Given the description of an element on the screen output the (x, y) to click on. 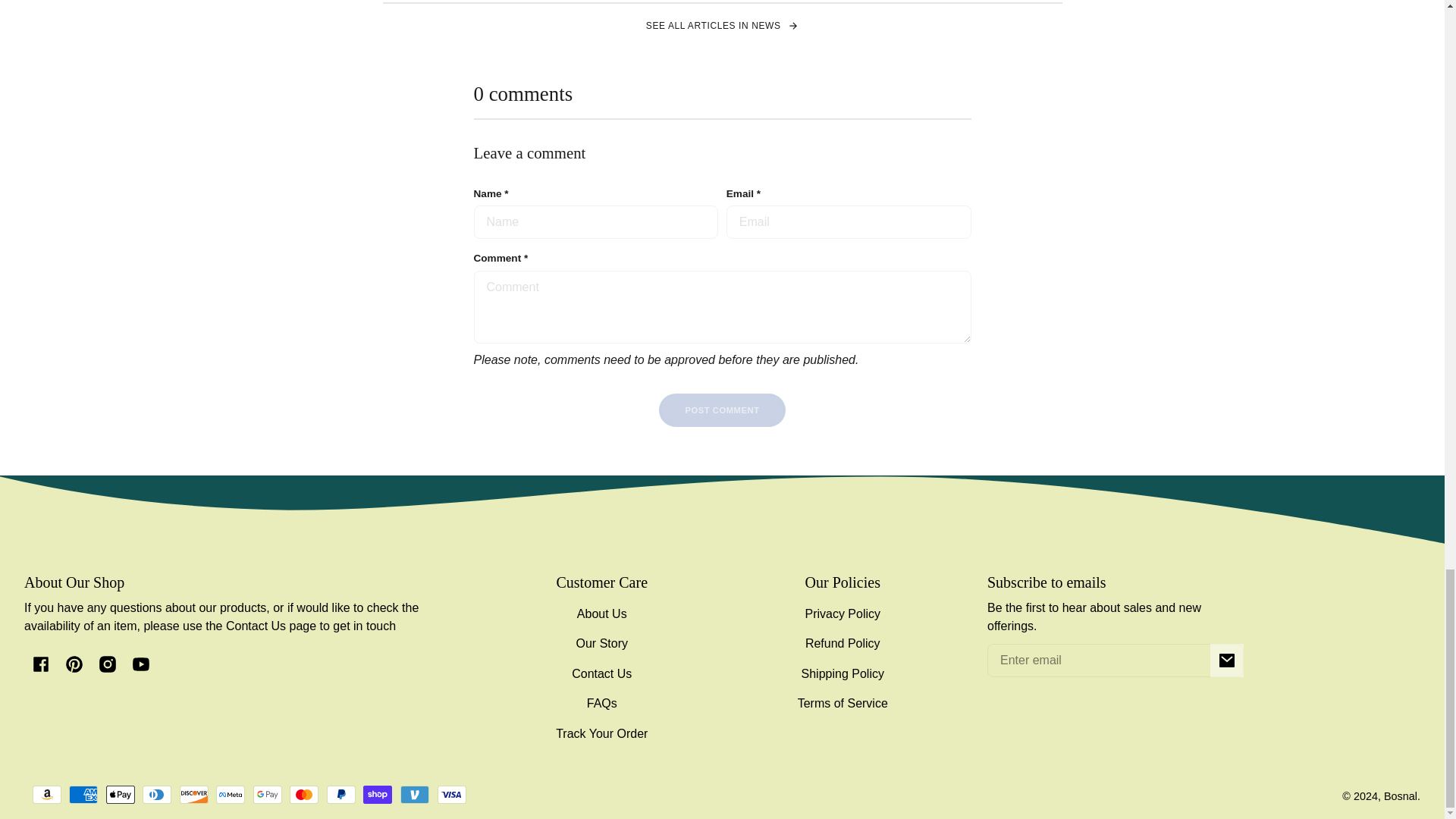
Refund Policy (842, 644)
YouTube (140, 663)
Instagram (106, 663)
Pinterest (74, 663)
Contact Us (601, 673)
Privacy Policy (842, 613)
Our Story (601, 644)
About Us (601, 613)
Amazon (46, 794)
Track Your Order (601, 733)
